Given the description of an element on the screen output the (x, y) to click on. 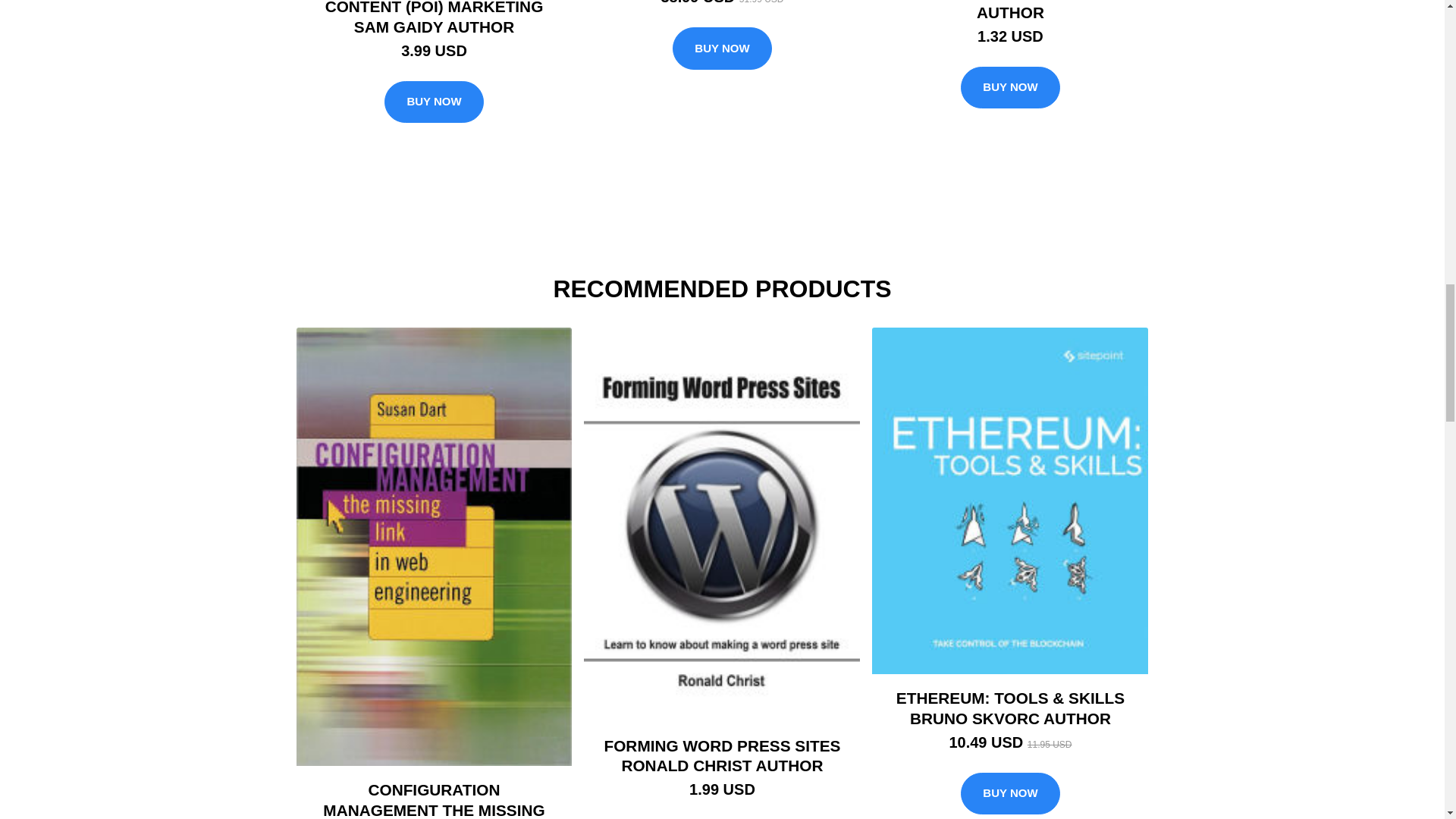
30 WAYS TO MARKET ON SOCIAL MEDIA ASHISH BHATT AUTHOR (1009, 10)
BUY NOW (433, 102)
FORMING WORD PRESS SITES RONALD CHRIST AUTHOR (722, 755)
BUY NOW (1009, 87)
BUY NOW (1009, 793)
BUY NOW (721, 48)
